Given the description of an element on the screen output the (x, y) to click on. 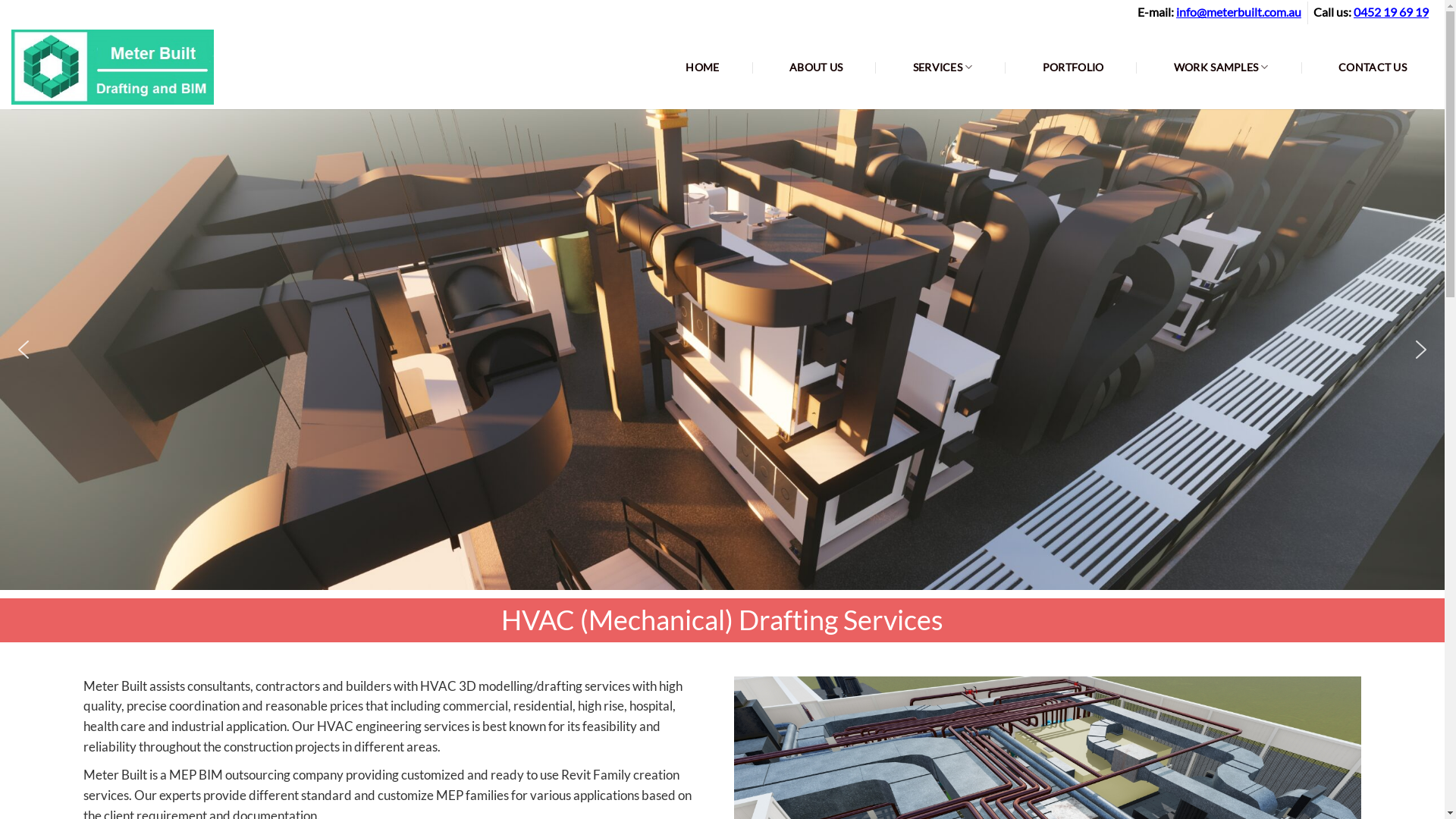
Meter Built Element type: hover (162, 67)
ABOUT US Element type: text (815, 66)
WORK SAMPLES Element type: text (1220, 66)
PORTFOLIO Element type: text (1073, 66)
CONTACT US Element type: text (1372, 66)
0452 19 69 19 Element type: text (1390, 11)
HOME Element type: text (701, 66)
info@meterbuilt.com.au Element type: text (1238, 11)
SERVICES Element type: text (942, 66)
